Given the description of an element on the screen output the (x, y) to click on. 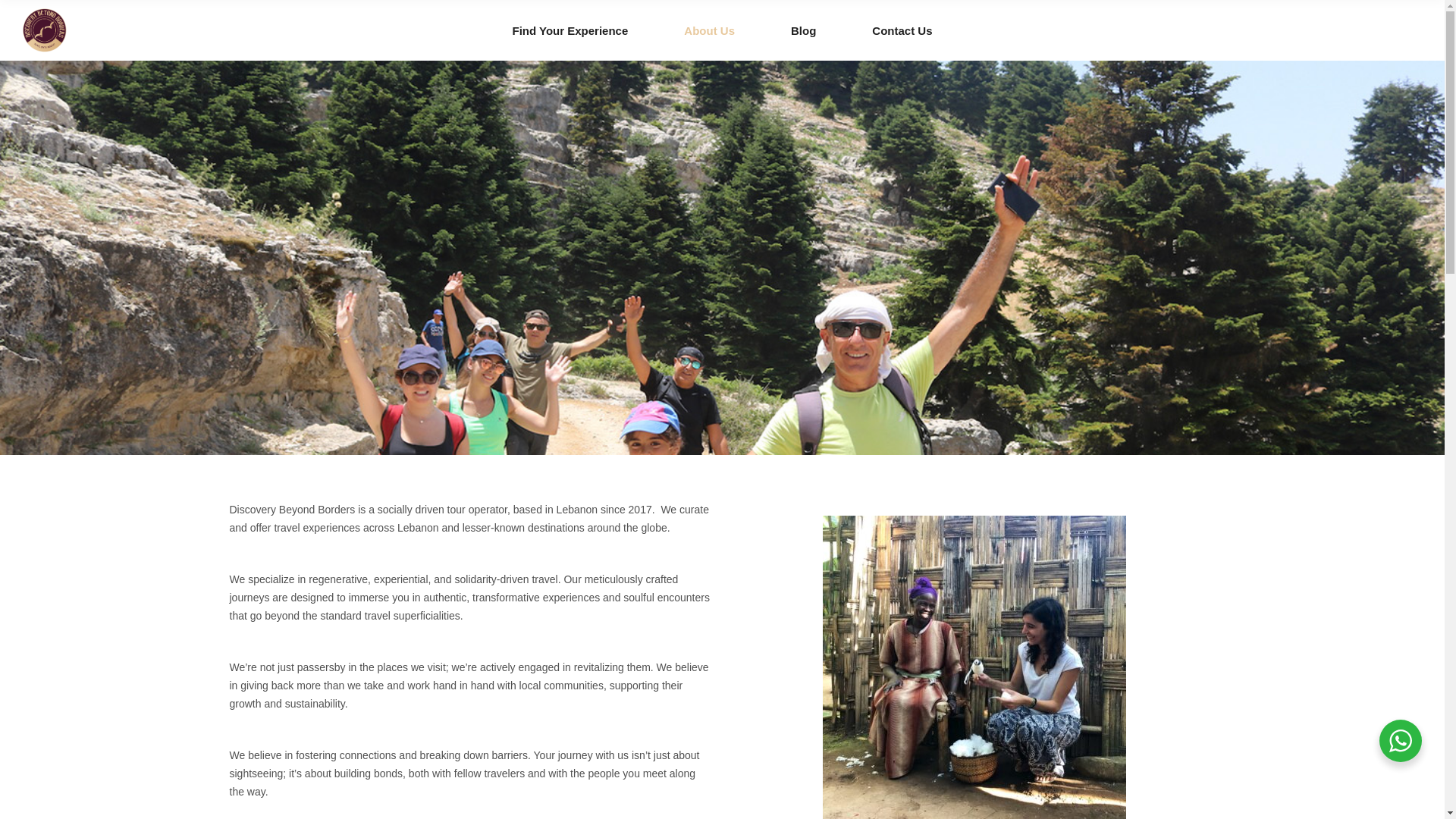
about-us-photo-1024x1024 (973, 667)
Contact Us (901, 30)
About Us (709, 30)
Find Your Experience (569, 30)
Blog (803, 30)
